Given the description of an element on the screen output the (x, y) to click on. 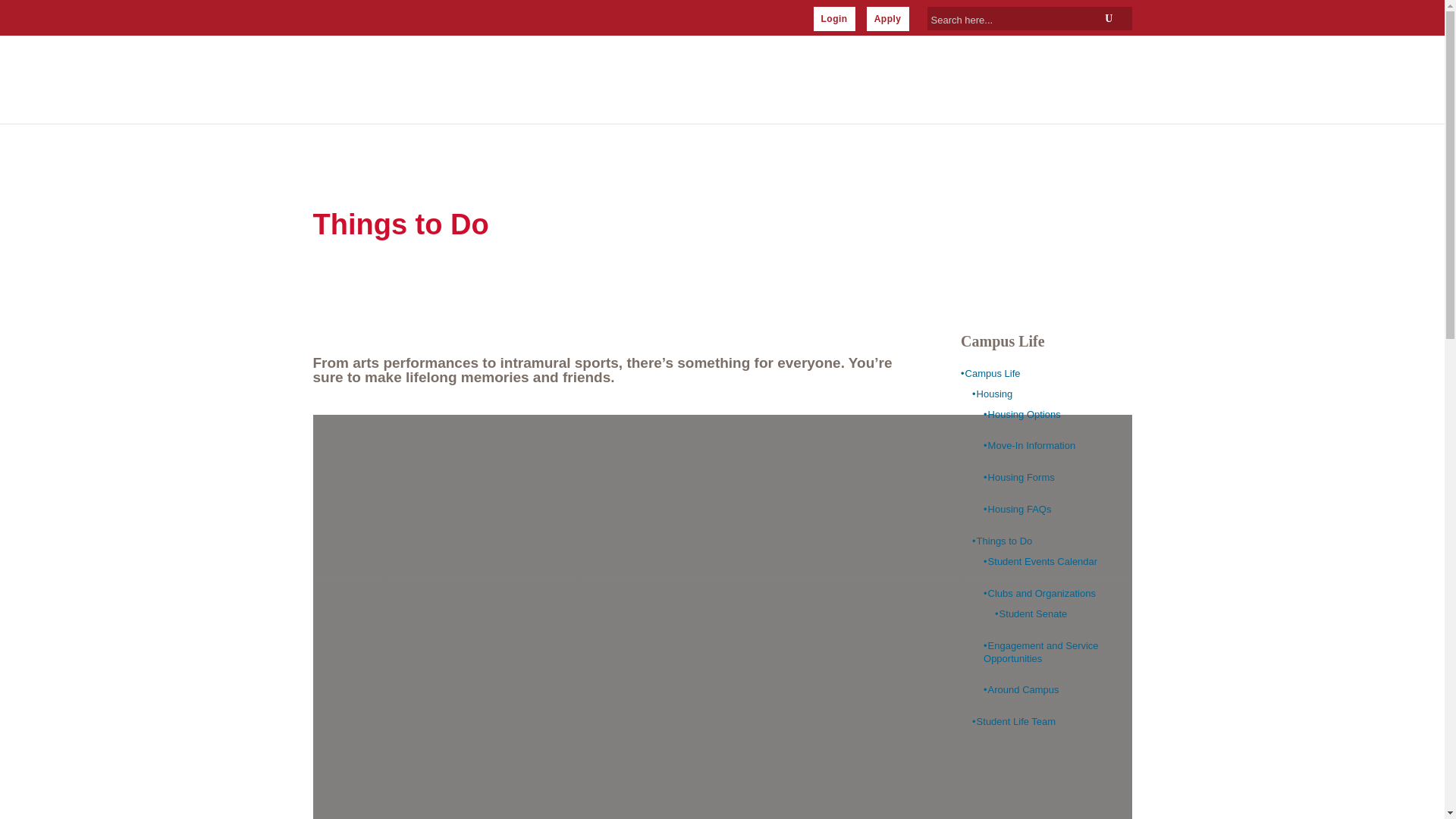
U (1108, 18)
About (636, 81)
Apply (887, 18)
Login (833, 18)
